Given the description of an element on the screen output the (x, y) to click on. 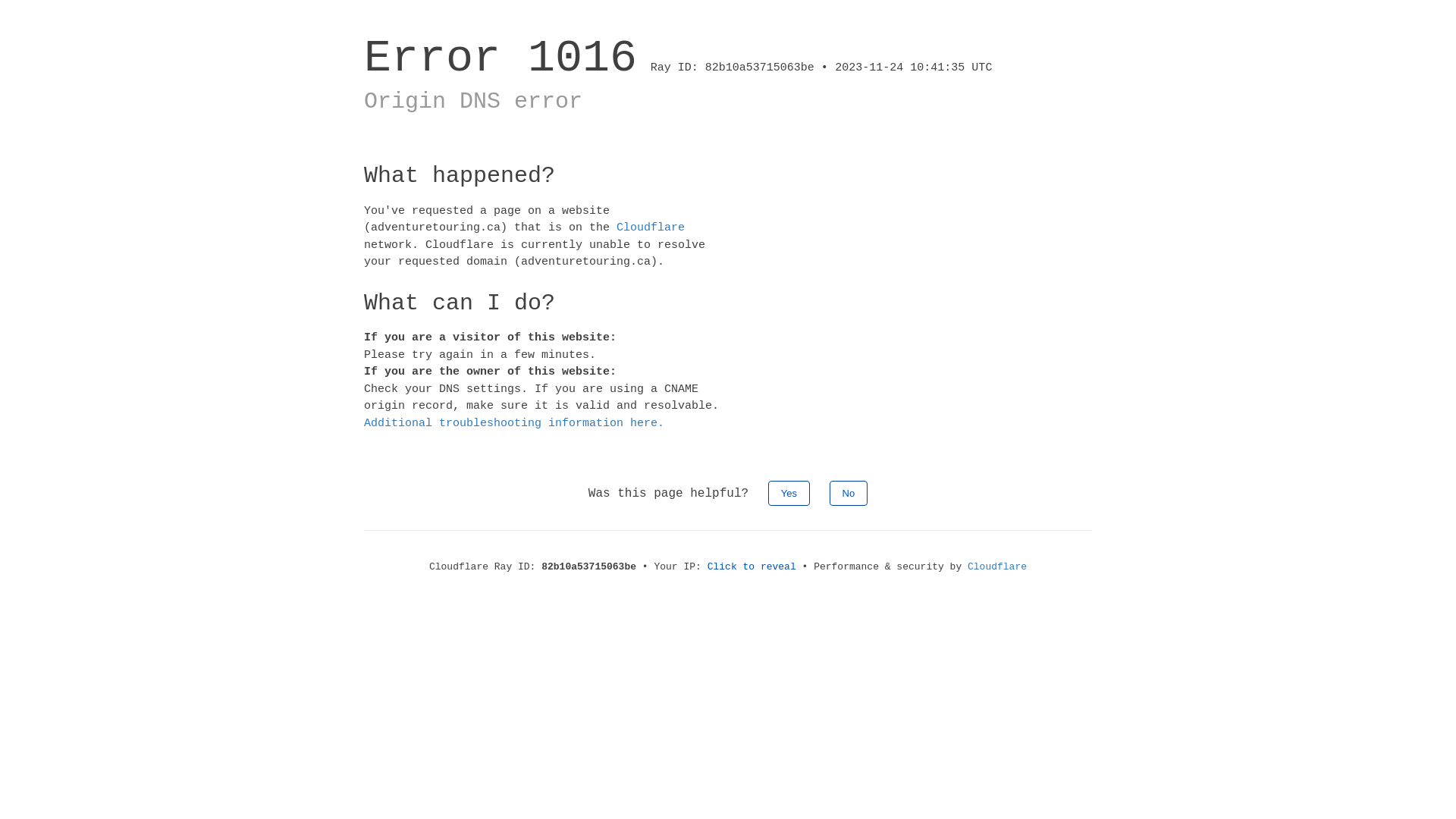
Yes Element type: text (788, 492)
Cloudflare Element type: text (996, 566)
Cloudflare Element type: text (650, 227)
No Element type: text (848, 492)
Click to reveal Element type: text (751, 566)
Additional troubleshooting information here. Element type: text (514, 423)
